Given the description of an element on the screen output the (x, y) to click on. 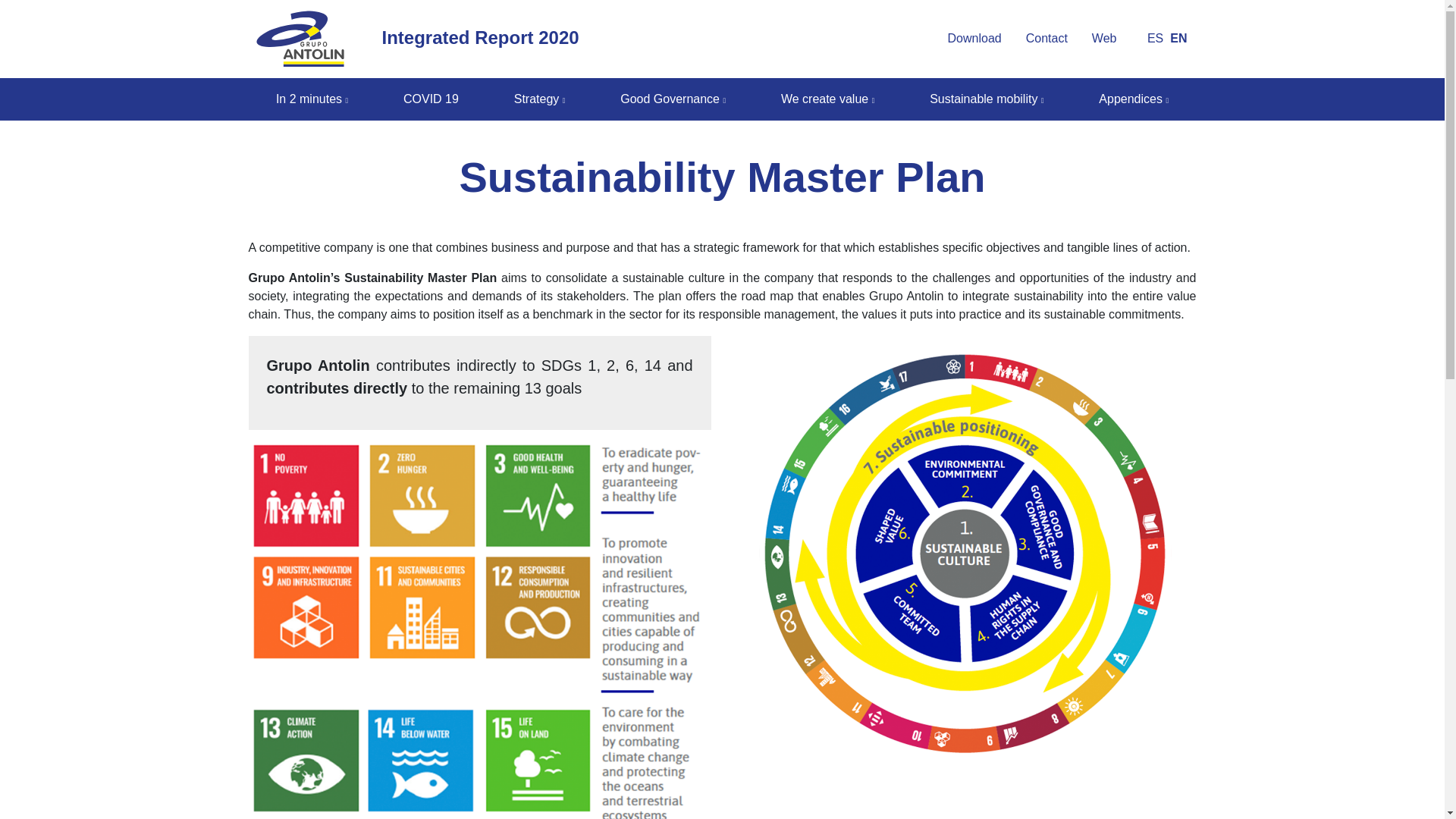
Strategy (540, 98)
We create value (827, 98)
In 2 minutes (311, 98)
Web (1104, 38)
Good Governance (673, 98)
Download (974, 38)
COVID 19 (430, 98)
Integrated Report 2020 (416, 38)
Contact (1046, 38)
EN (1178, 38)
Integrated Report 2020 (416, 38)
Appendices (1133, 98)
Sustainable mobility (986, 98)
